Given the description of an element on the screen output the (x, y) to click on. 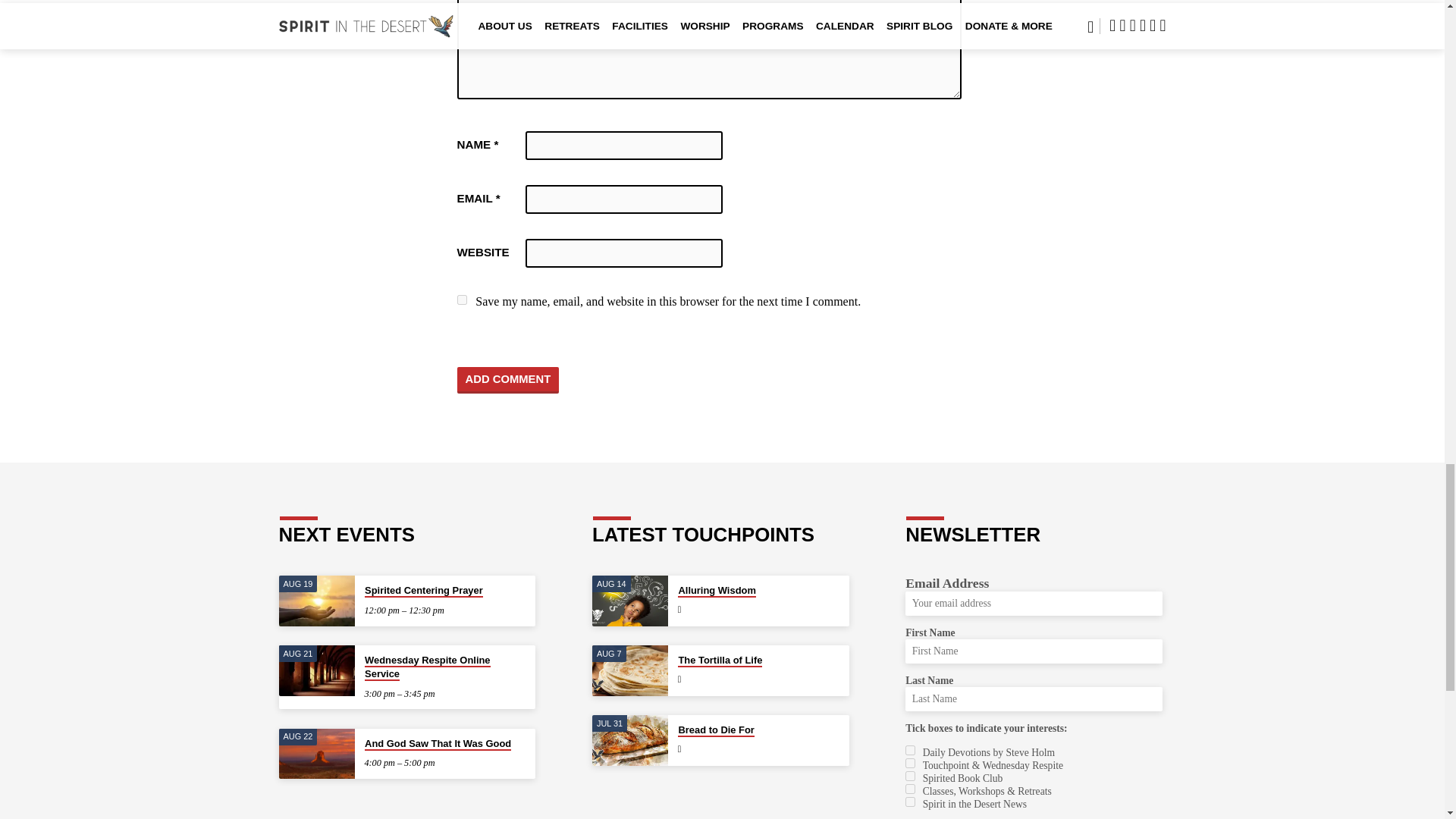
f19ab91031 (910, 750)
451e56ae58 (910, 776)
e15f548fa0 (910, 788)
Add Comment (508, 379)
db06863268 (910, 801)
yes (461, 299)
44e0e54a7c (910, 763)
